Given the description of an element on the screen output the (x, y) to click on. 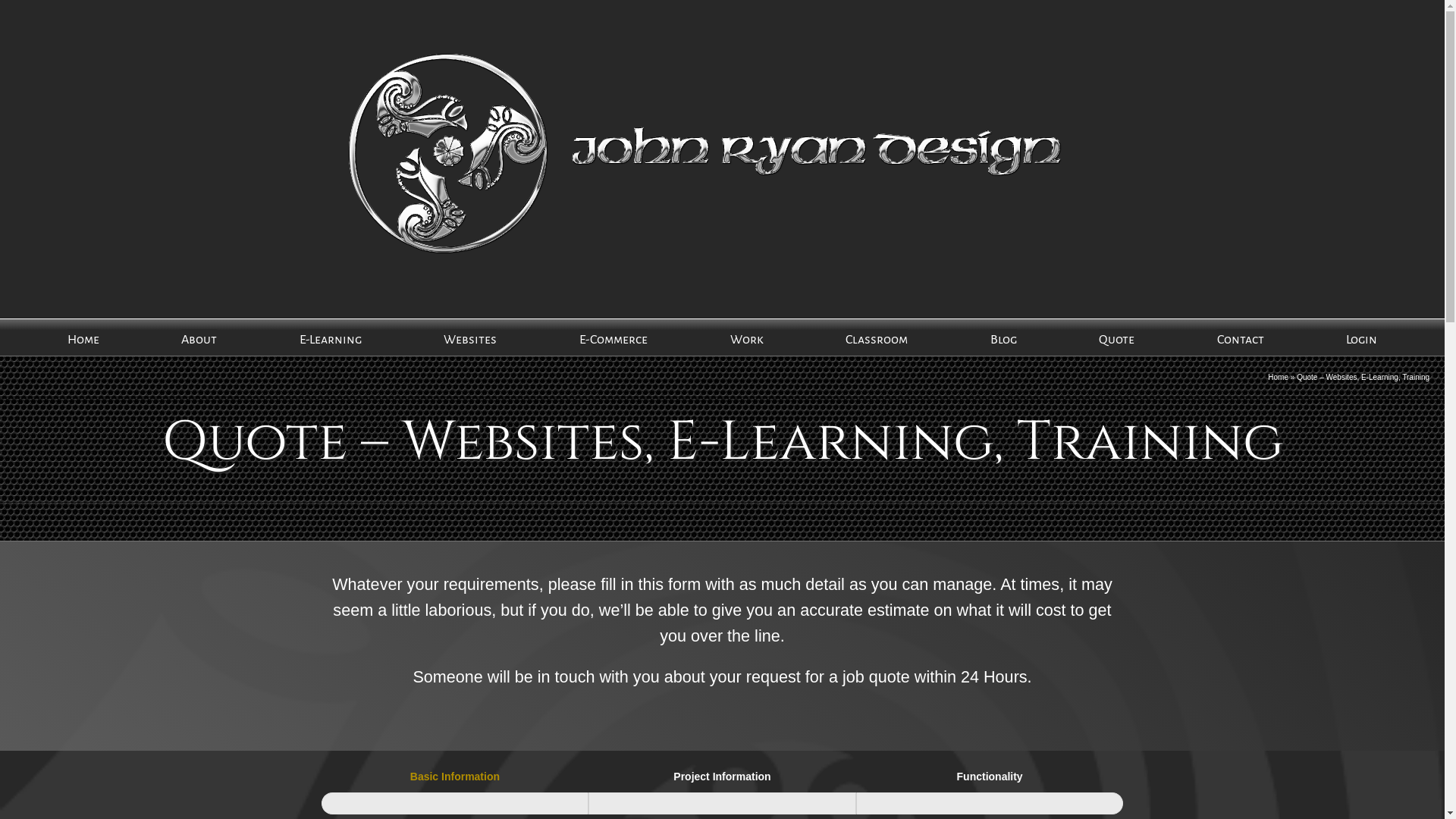
Login Element type: text (1361, 337)
Home Element type: text (1277, 377)
Blog Element type: text (1003, 337)
E-Learning Element type: text (330, 337)
Quote Element type: text (1116, 337)
Websites Element type: text (469, 337)
Contact Element type: text (1240, 337)
Classroom Element type: text (876, 337)
About Element type: text (198, 337)
Home Element type: text (83, 337)
E-Commerce Element type: text (613, 337)
Work Element type: text (745, 337)
